Given the description of an element on the screen output the (x, y) to click on. 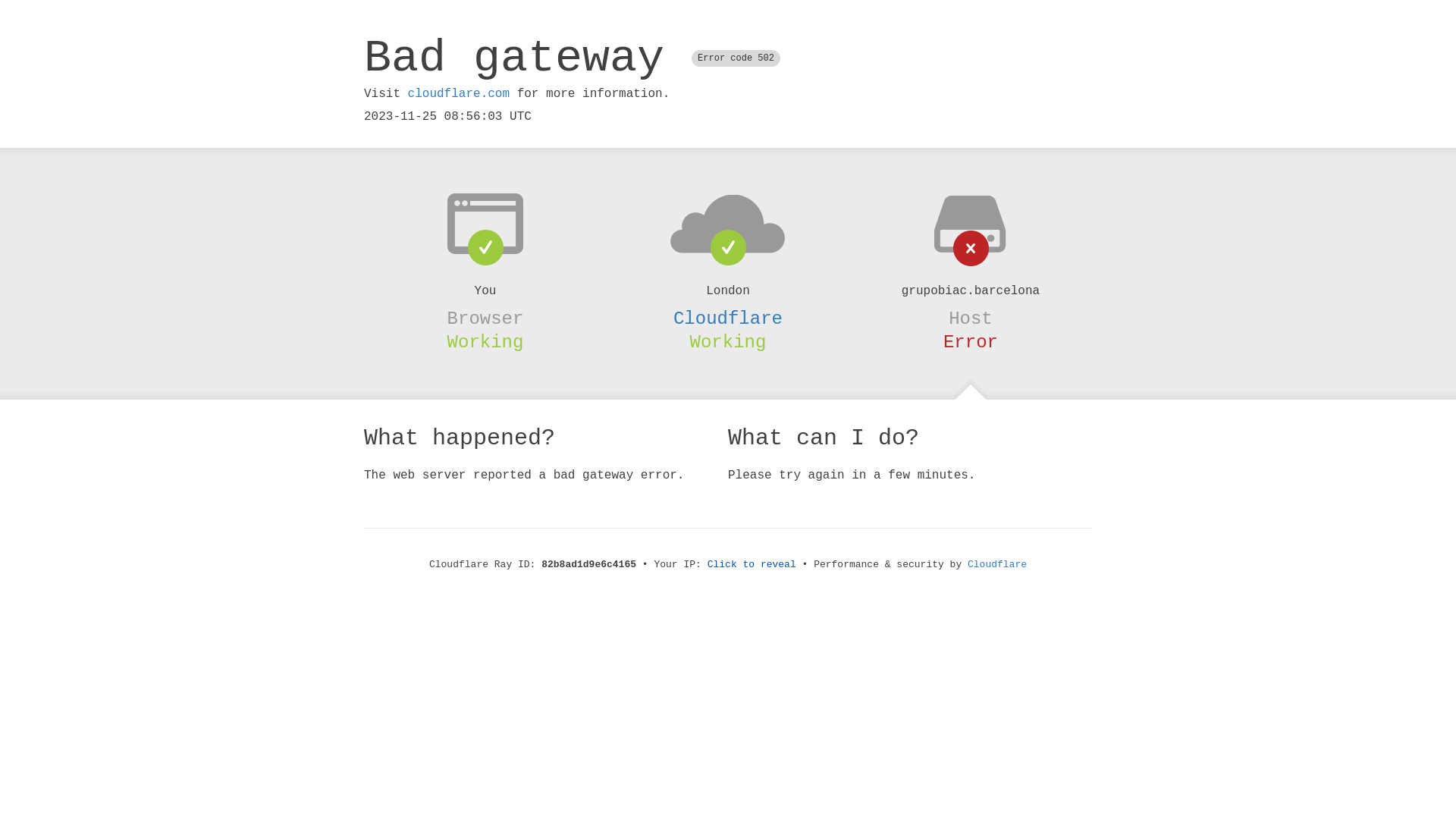
Cloudflare Element type: text (996, 564)
cloudflare.com Element type: text (458, 93)
Cloudflare Element type: text (727, 318)
Click to reveal Element type: text (751, 564)
